Given the description of an element on the screen output the (x, y) to click on. 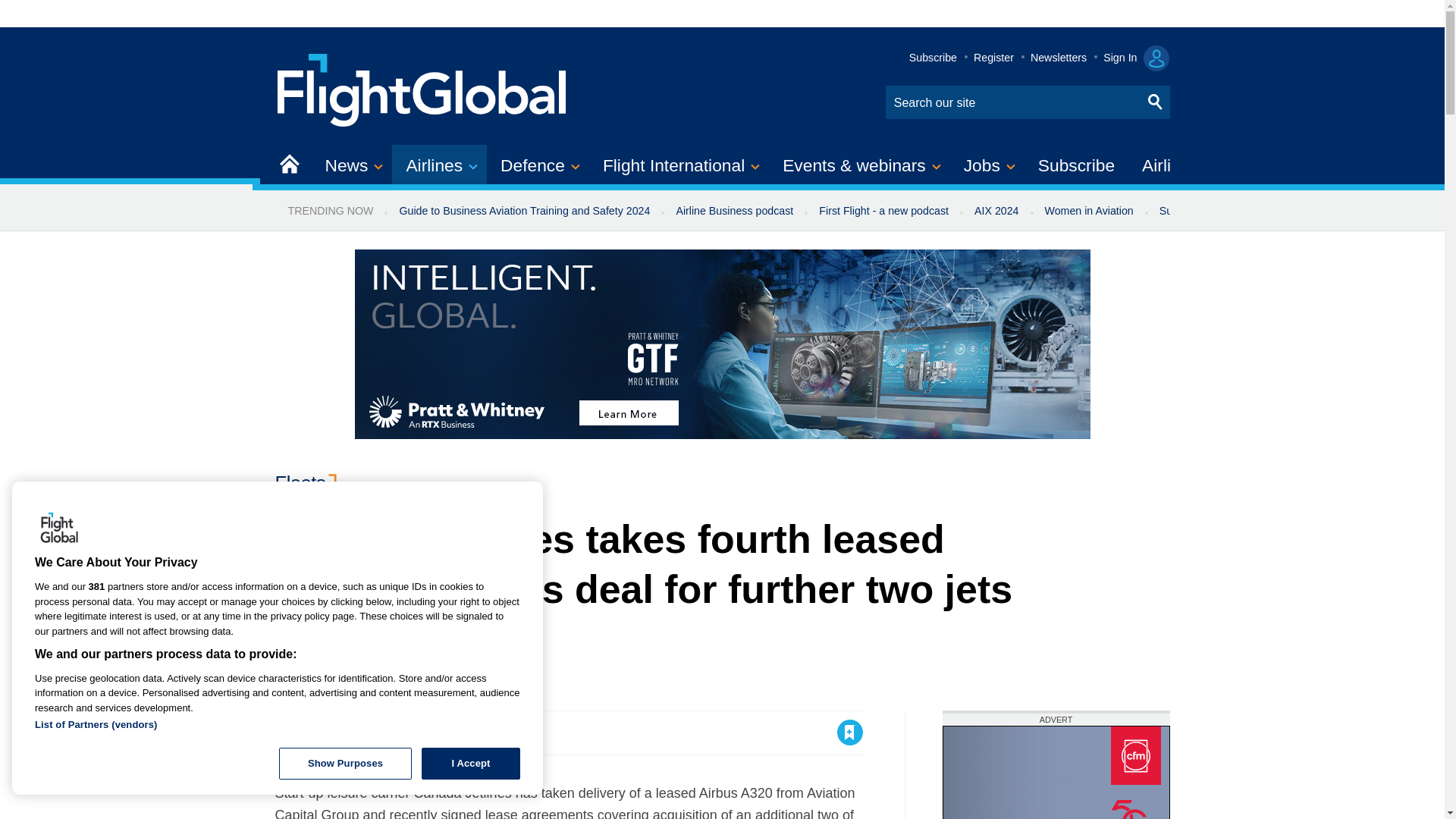
First Flight - a new podcast (883, 210)
Share this on Facebook (288, 732)
Guide to Business Aviation Training and Safety 2024 (523, 210)
AIX 2024 (996, 210)
3rd party ad content (1055, 772)
Share this on Linked in (352, 732)
Site name (422, 88)
Share this on Twitter (320, 732)
Women in Aviation (1089, 210)
Flight Global Logo (58, 528)
Email this article (386, 732)
Airline Business podcast (734, 210)
